Given the description of an element on the screen output the (x, y) to click on. 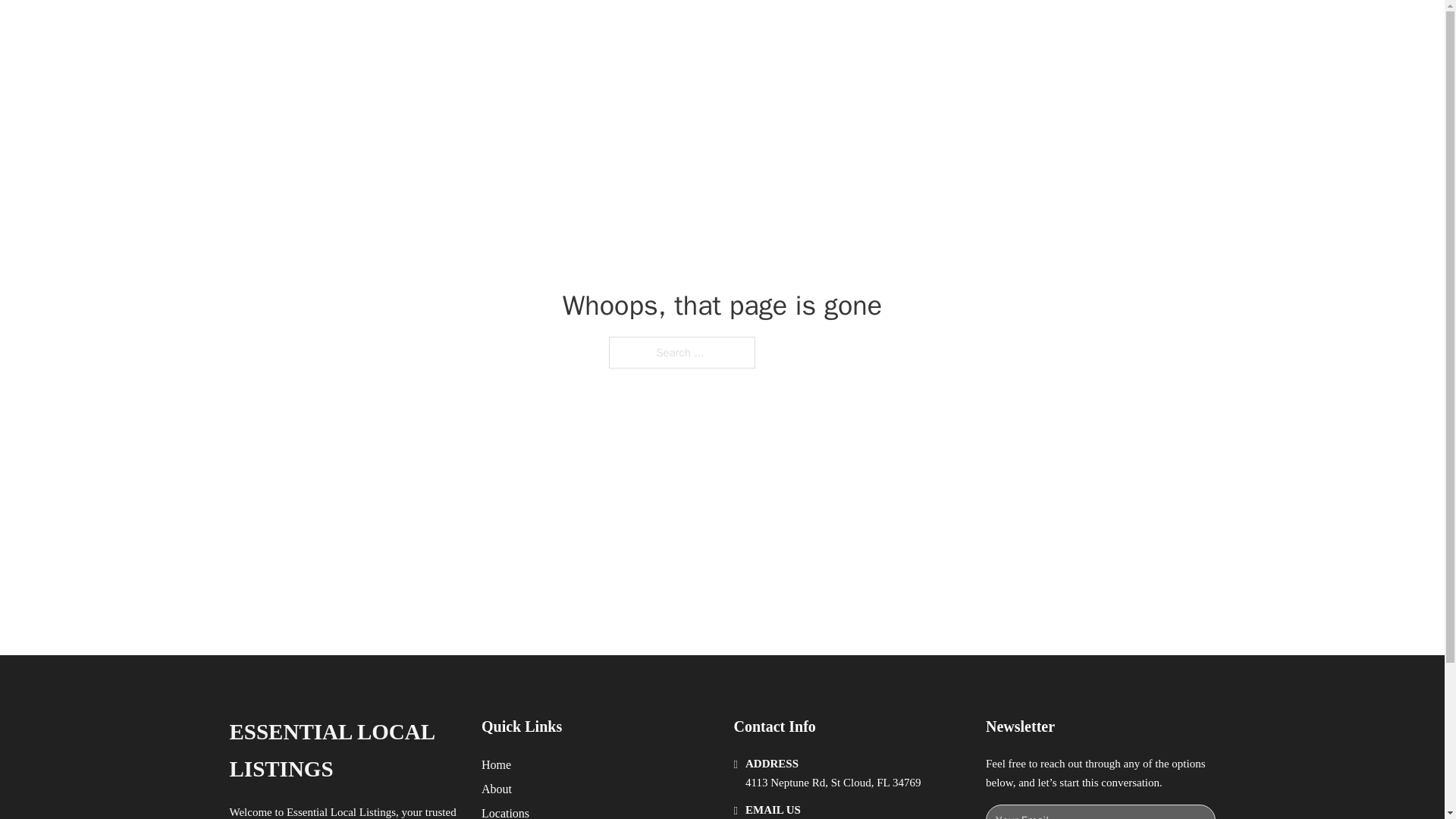
About (496, 788)
LOCATIONS (990, 29)
ESSENTIAL LOCAL LISTINGS (446, 28)
Home (496, 764)
HOME (919, 29)
ESSENTIAL LOCAL LISTINGS (343, 750)
Locations (505, 811)
